Given the description of an element on the screen output the (x, y) to click on. 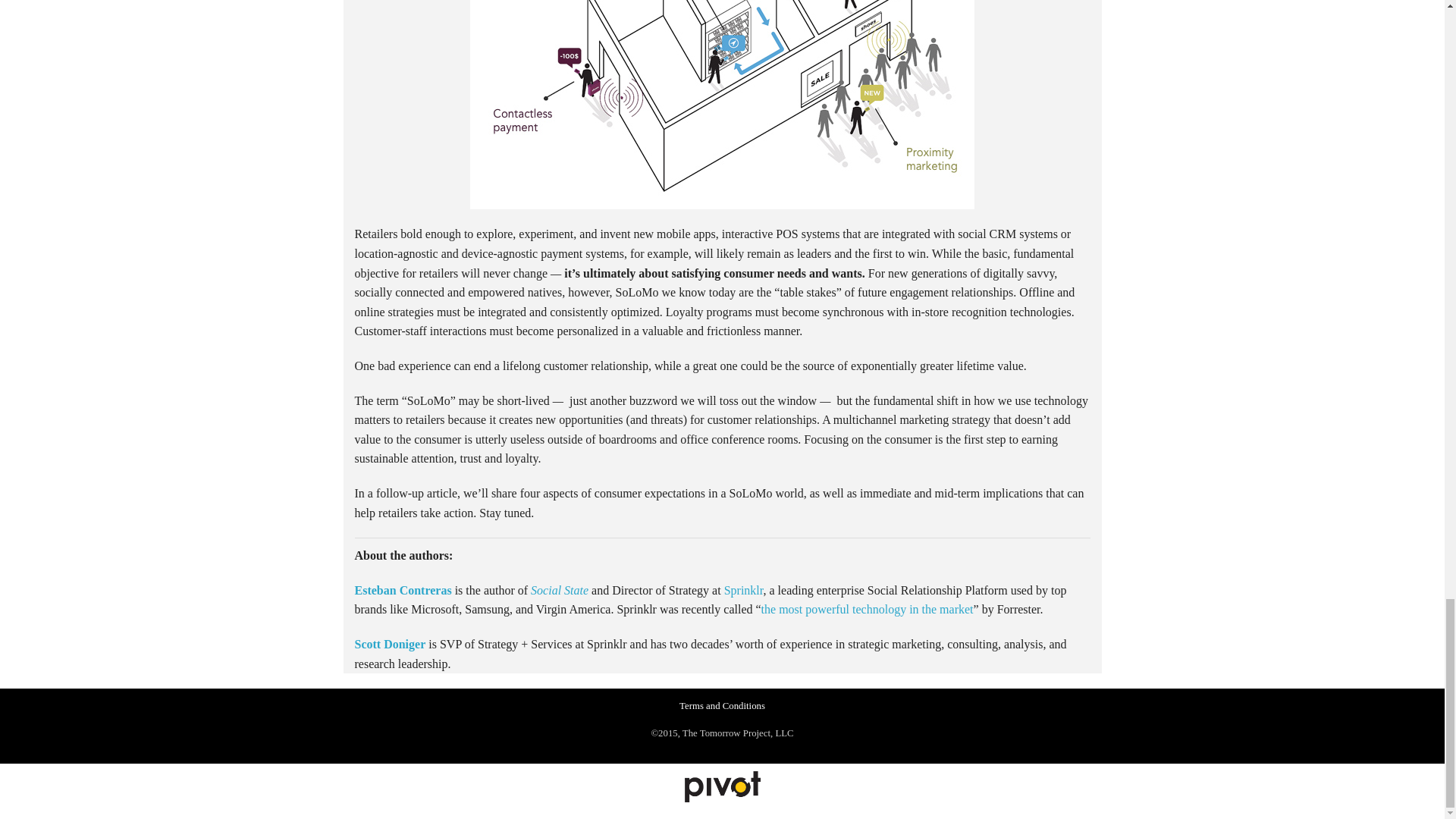
Scott Doniger (390, 644)
Social State (559, 590)
the most powerful technology in the market (867, 608)
Esteban Contreras (403, 590)
Google conversion frame (113, 811)
Terms and Conditions (722, 706)
Sprinklr (742, 590)
